Given the description of an element on the screen output the (x, y) to click on. 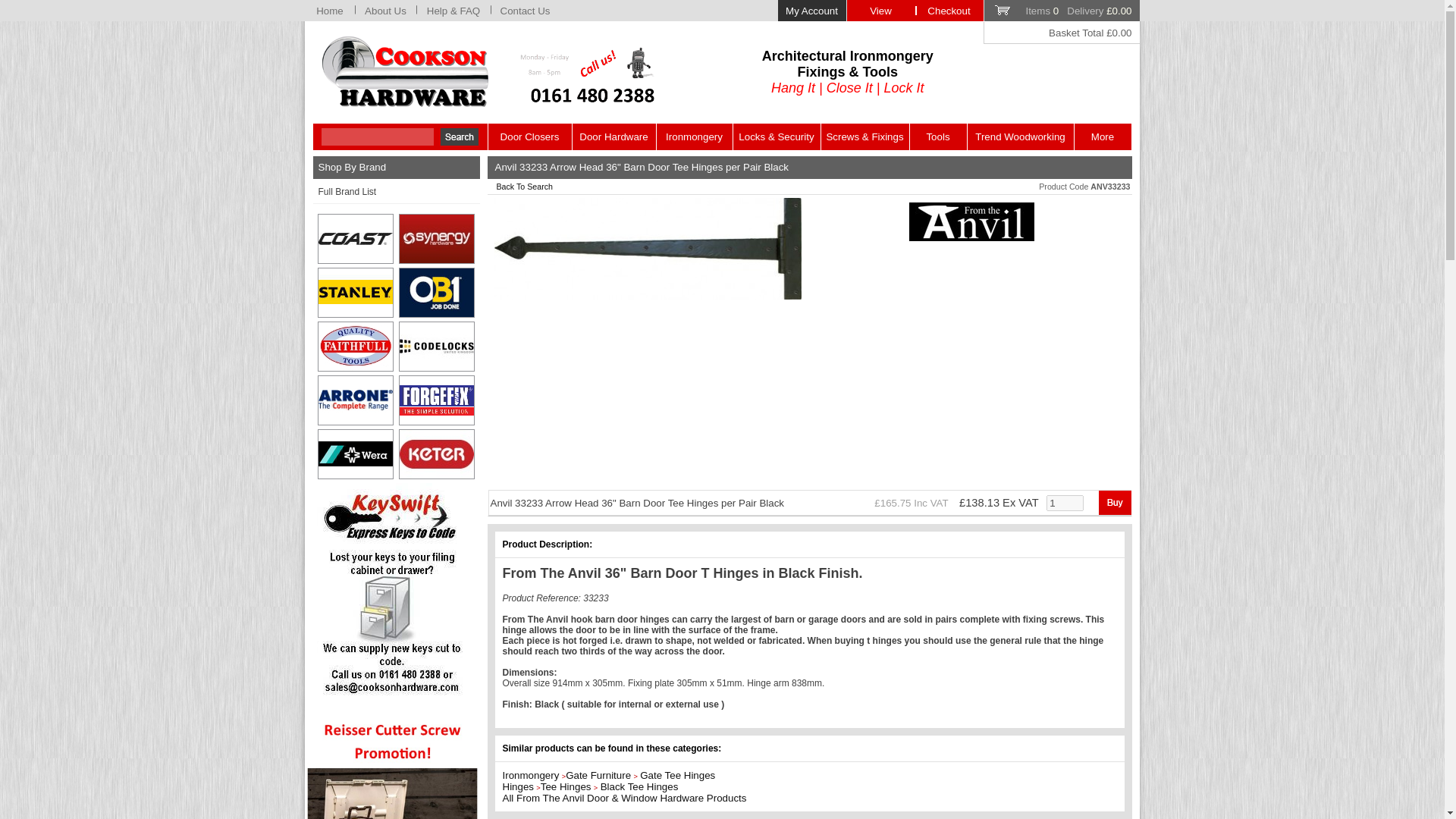
Checkout (948, 10)
OB1 (436, 292)
Door Hardware (613, 136)
Faithfull Tools (355, 346)
Stanley Tools (355, 292)
Trend Woodworking (1021, 136)
Tools (938, 136)
Keyswift - Express Keys to Code. Key cutting service. (392, 591)
Contact Us (525, 10)
Coast Torches (355, 238)
Keter (436, 453)
Synergy Hardware (436, 238)
Wera Screwdriver Bits and Tools (355, 453)
ForgeFix Fixings and Fasteners (436, 400)
My Account (811, 10)
